Given the description of an element on the screen output the (x, y) to click on. 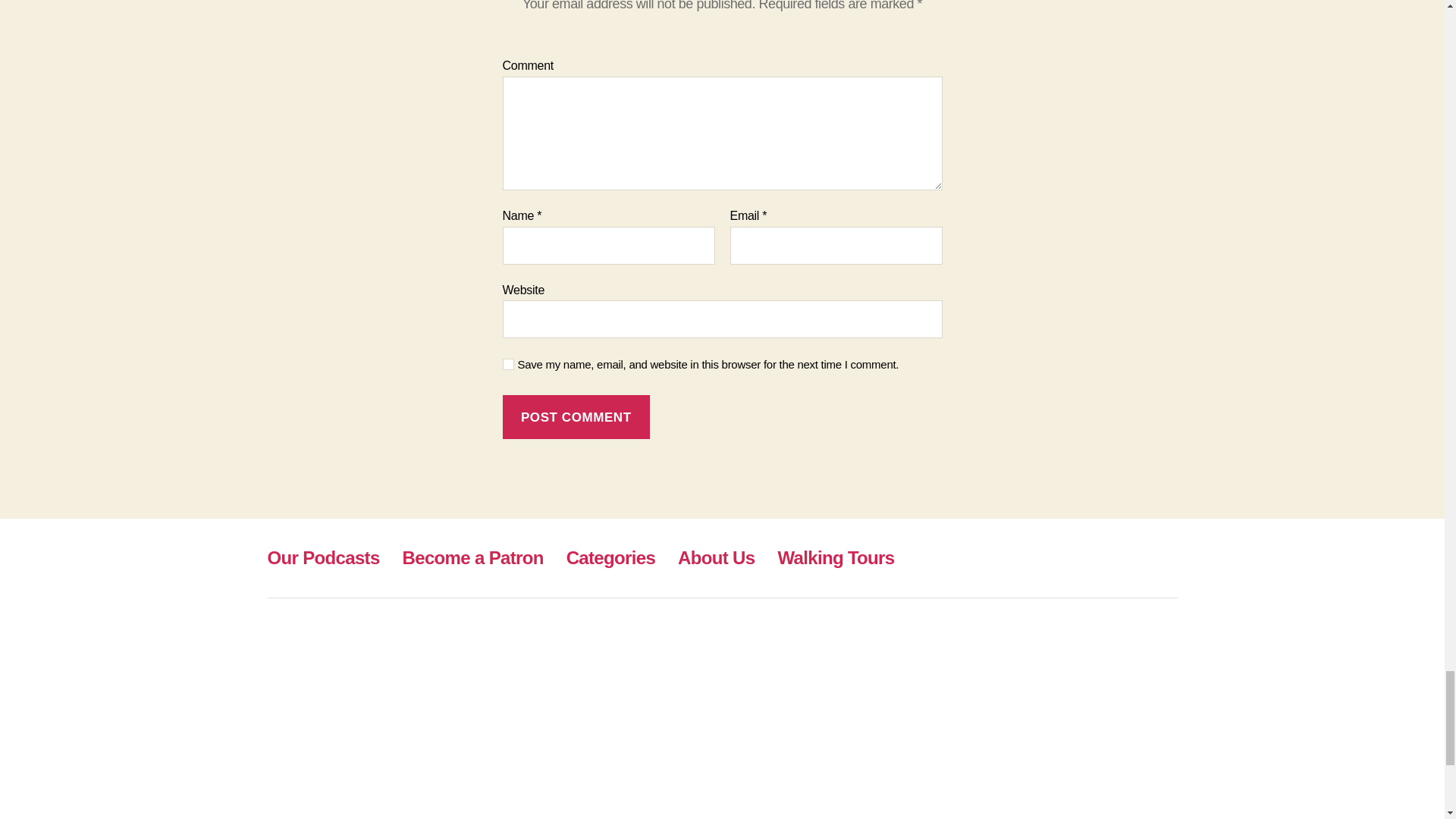
yes (507, 364)
Post Comment (575, 416)
